Given the description of an element on the screen output the (x, y) to click on. 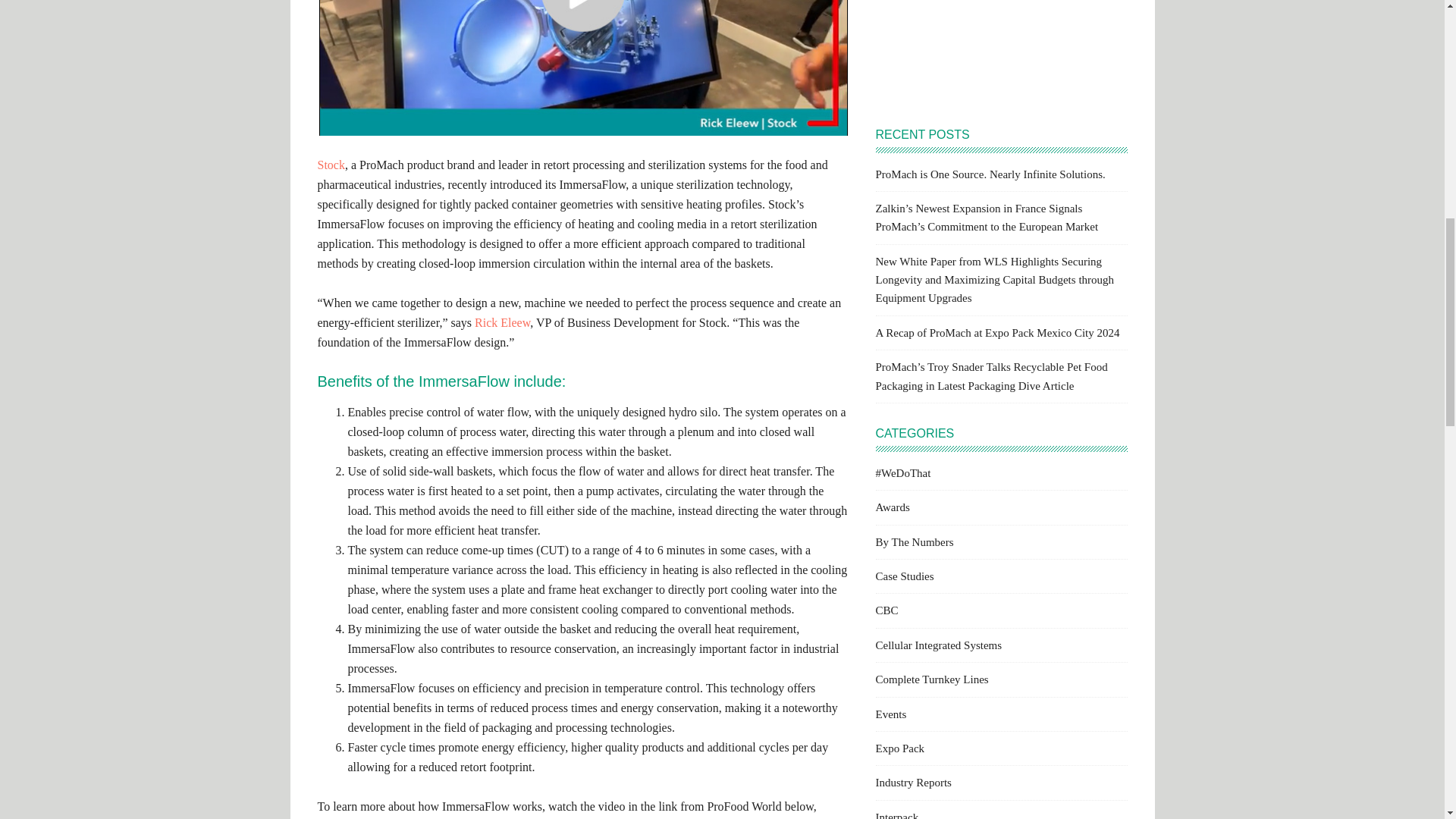
Rick Eleew (501, 322)
Subscribe to The Packaging Observer (1000, 49)
Awards (891, 507)
A Recap of ProMach at Expo Pack Mexico City 2024 (997, 332)
ProMach is One Source. Nearly Infinite Solutions. (990, 174)
By The Numbers (914, 541)
Case Studies (904, 576)
Stock (330, 164)
